Given the description of an element on the screen output the (x, y) to click on. 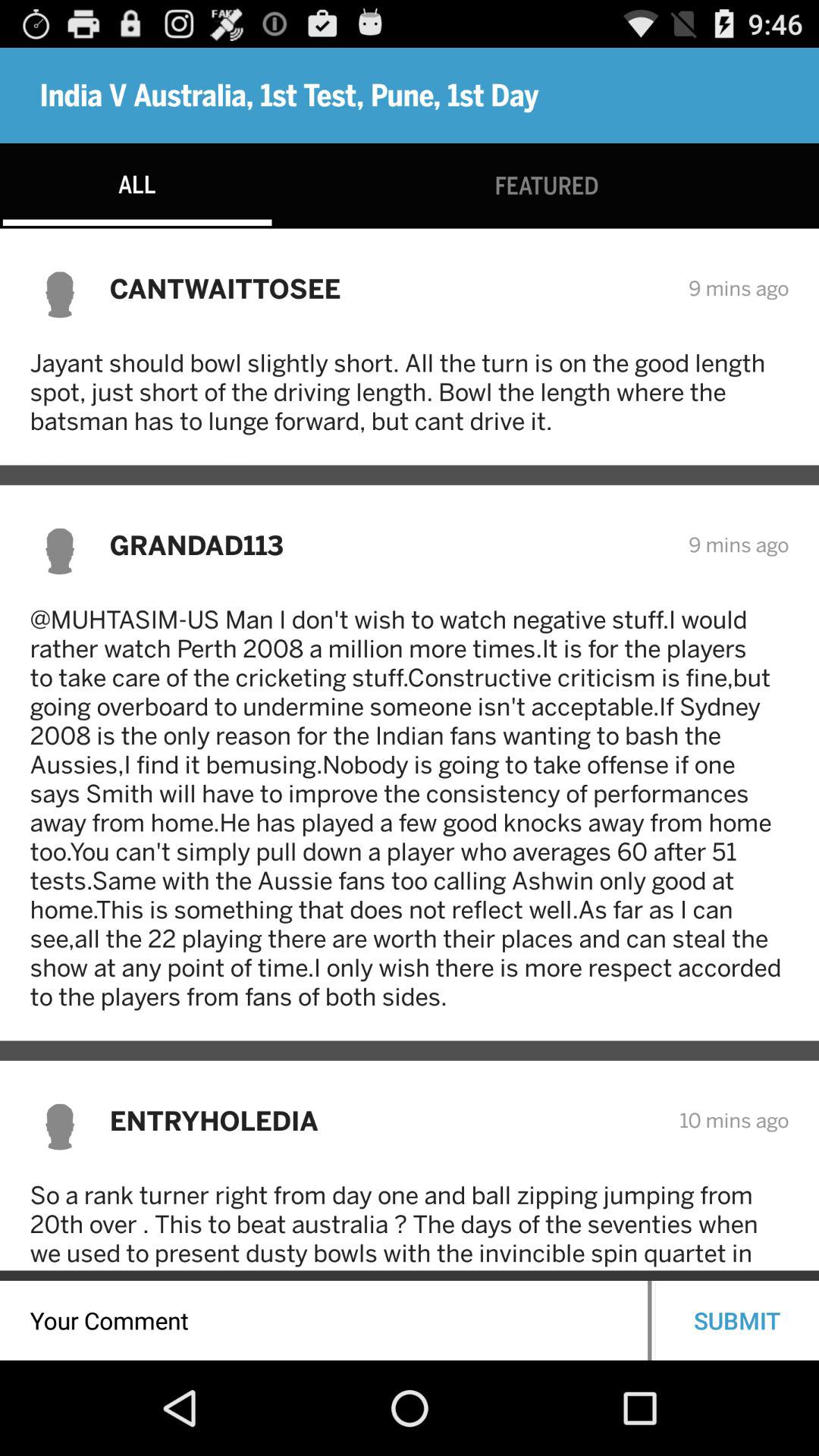
turn off the item below all icon (388, 288)
